Given the description of an element on the screen output the (x, y) to click on. 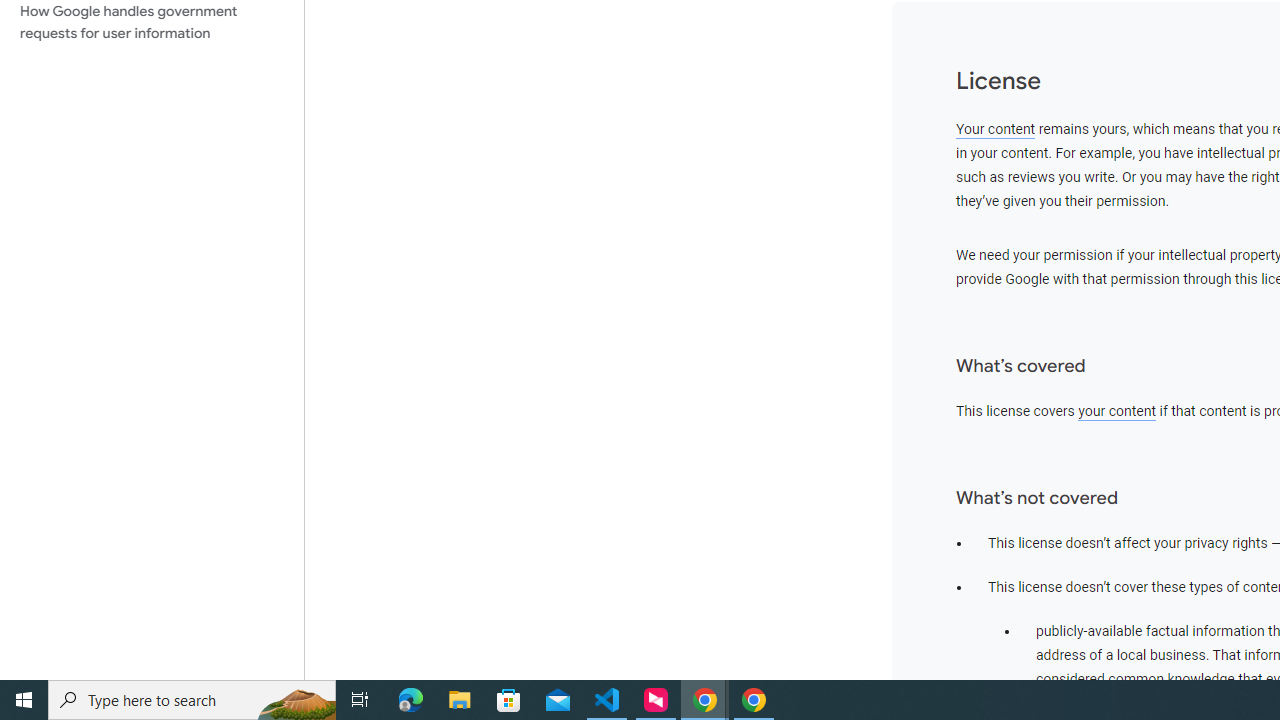
Your content (995, 129)
your content (1117, 411)
